Given the description of an element on the screen output the (x, y) to click on. 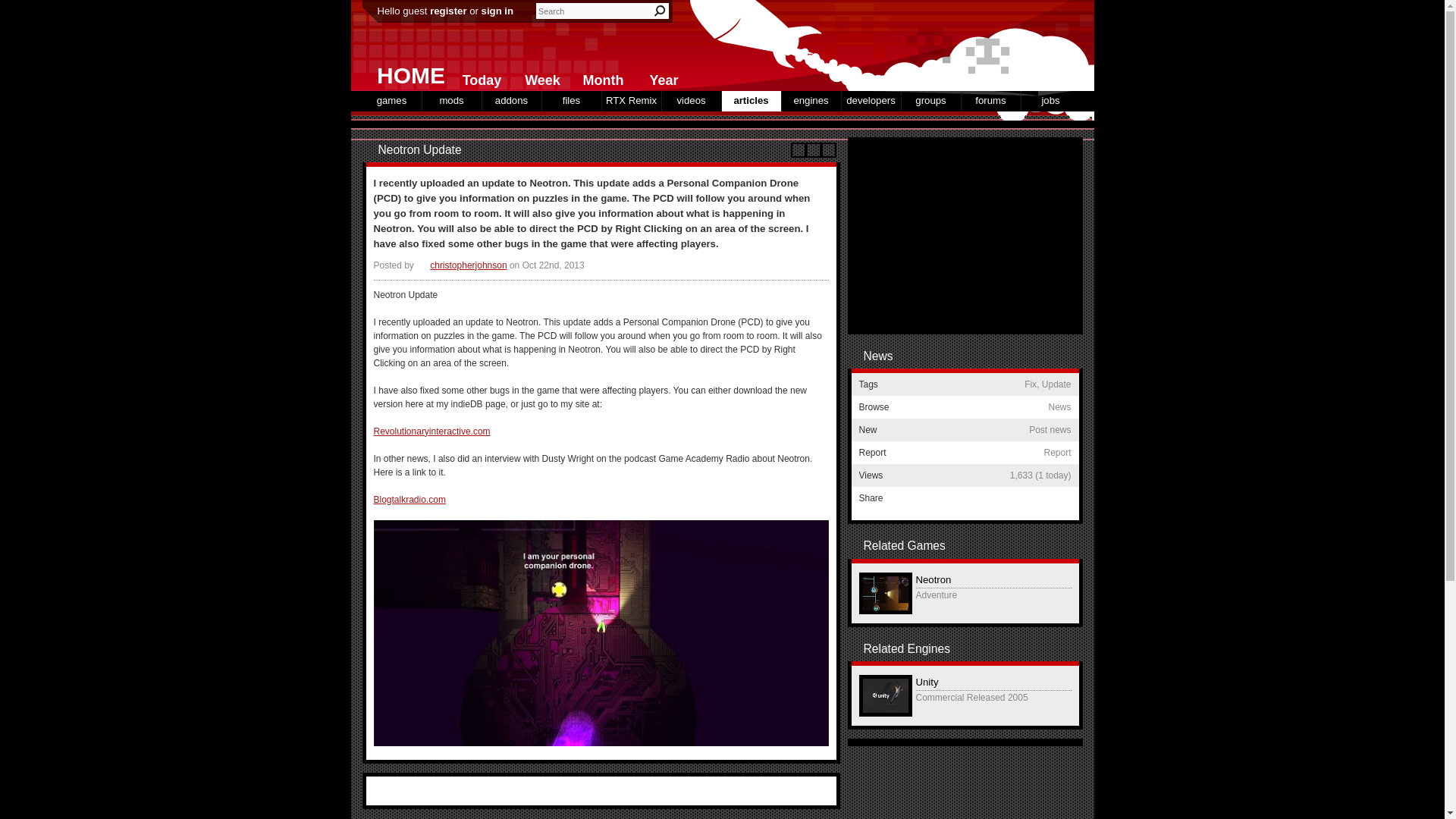
Search (660, 10)
Week (539, 76)
addons (511, 100)
Report (813, 150)
New today (478, 76)
HOME (405, 71)
videos (690, 100)
New this week (539, 76)
Search ModDB (660, 10)
New this year (660, 76)
sign in (497, 10)
Month (599, 76)
ModDB Home (965, 45)
games (392, 100)
